Given the description of an element on the screen output the (x, y) to click on. 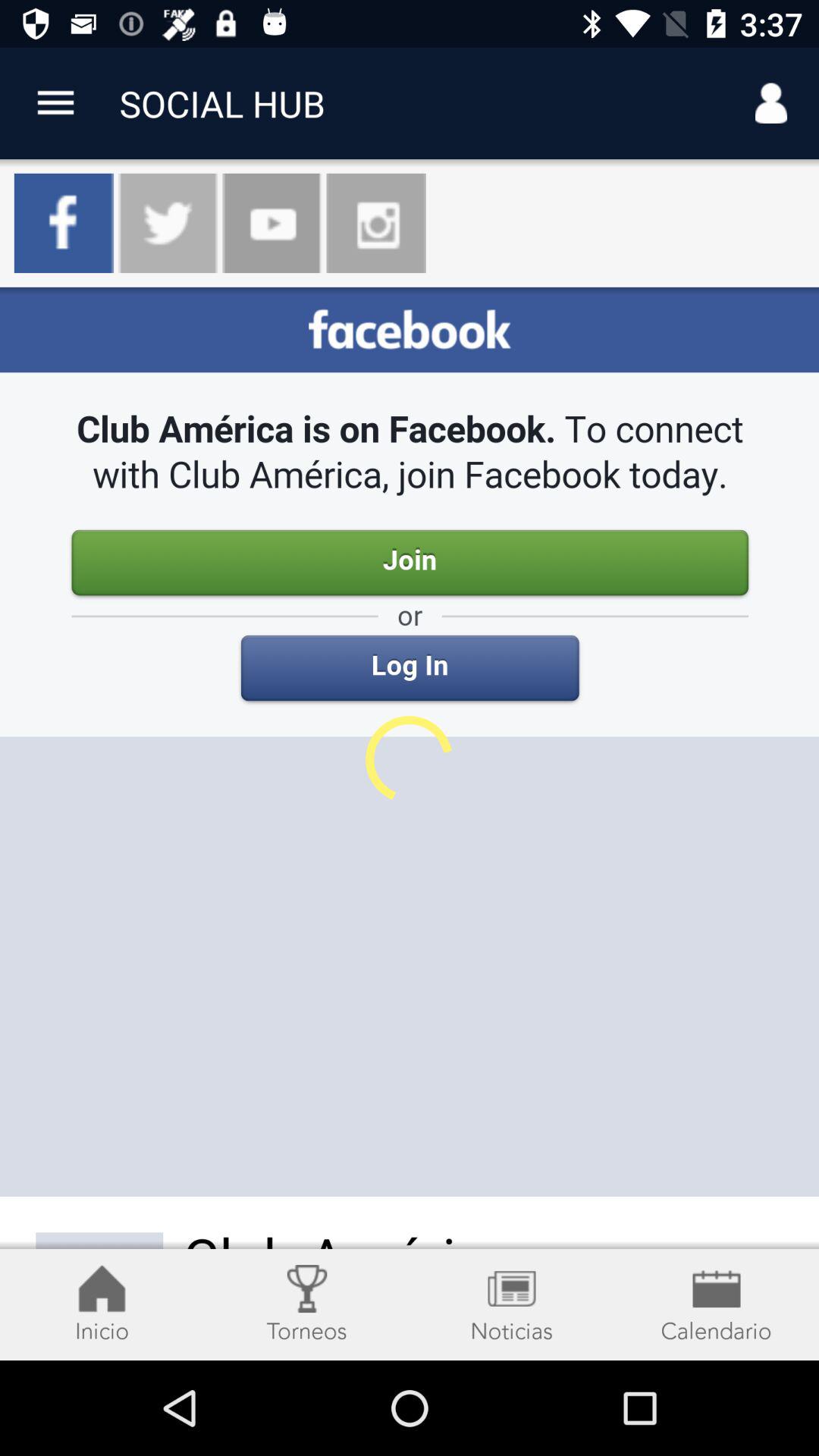
more (55, 103)
